Given the description of an element on the screen output the (x, y) to click on. 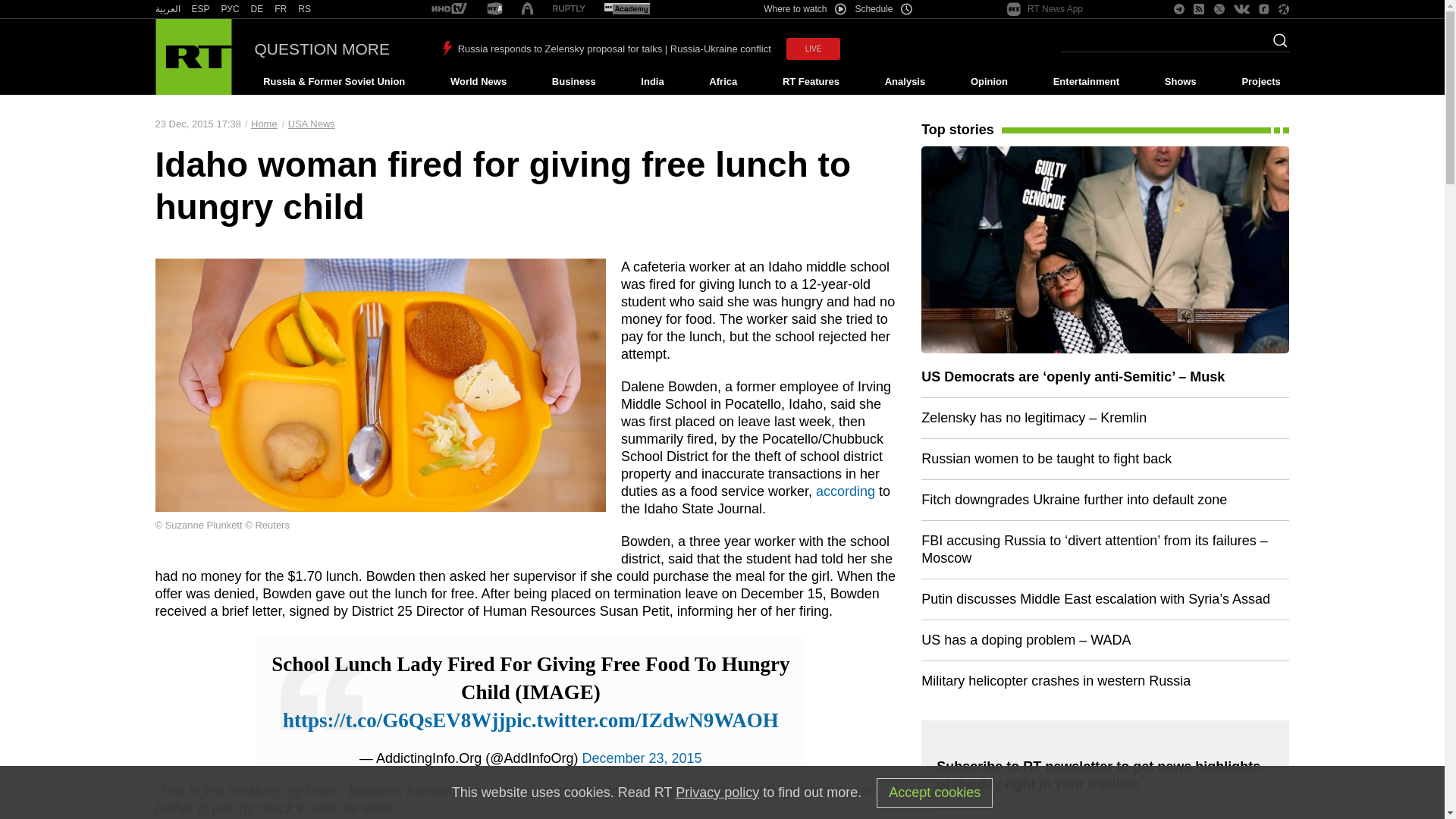
QUESTION MORE (322, 48)
Business (573, 81)
India (651, 81)
Shows (1180, 81)
RT  (448, 9)
DE (256, 9)
RT  (304, 9)
RT Features (810, 81)
Opinion (988, 81)
Search (1276, 44)
RT  (280, 9)
RT  (166, 9)
RT  (569, 8)
RS (304, 9)
FR (280, 9)
